Given the description of an element on the screen output the (x, y) to click on. 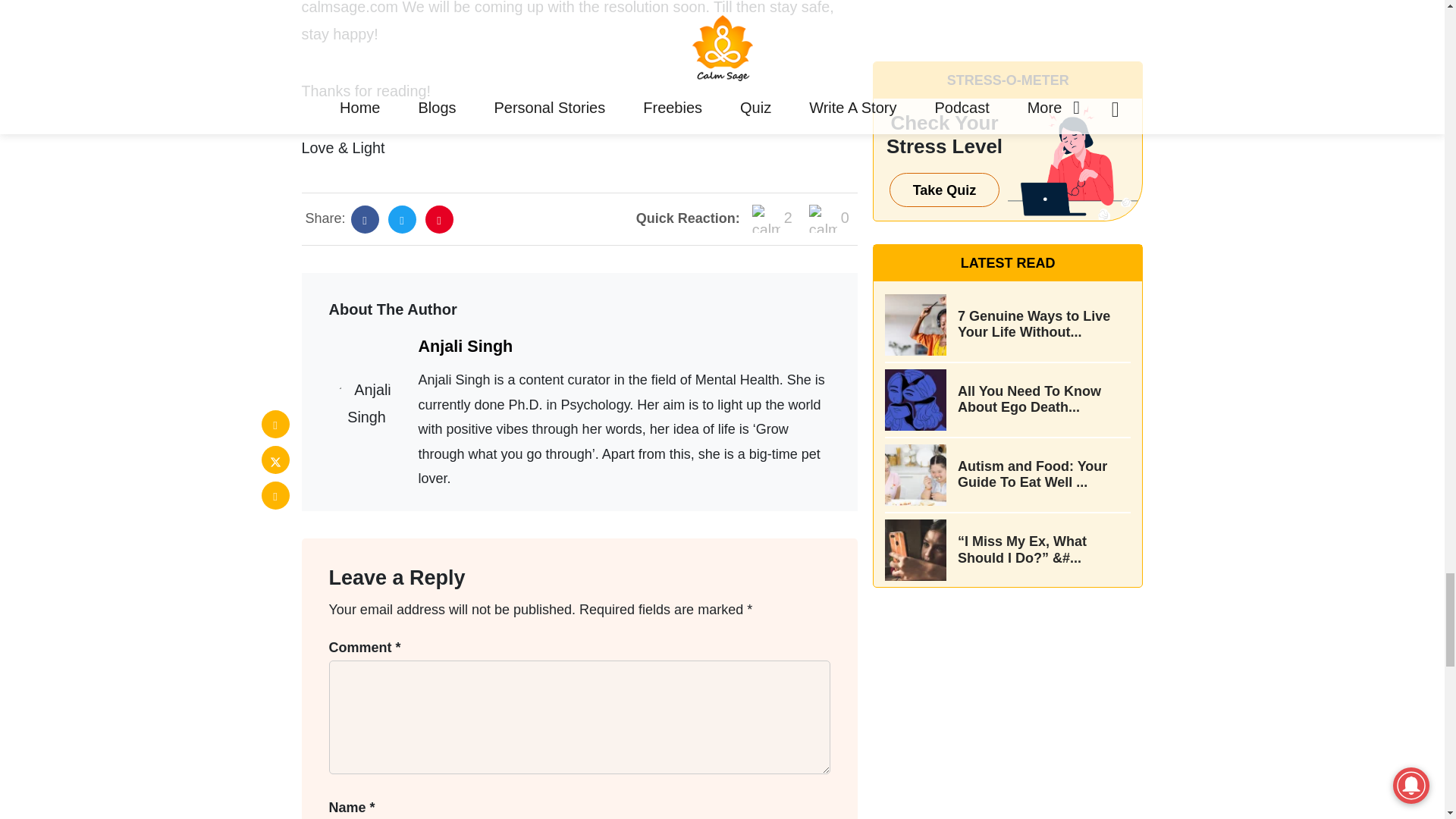
0 (829, 218)
2 (772, 218)
Anjali Singh (466, 345)
